Given the description of an element on the screen output the (x, y) to click on. 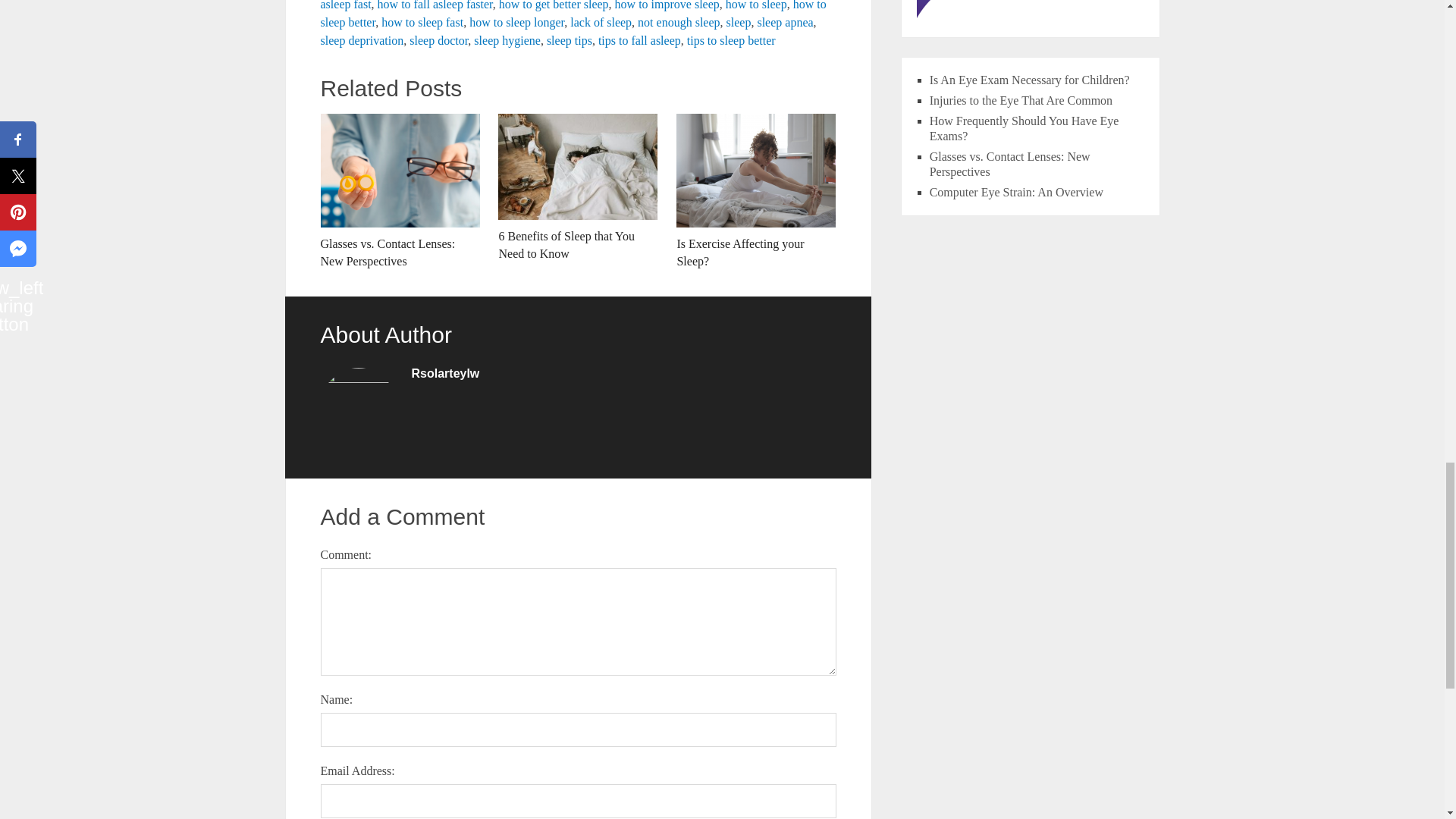
6 Benefits of Sleep that You Need to Know (577, 187)
lack of sleep (600, 21)
tips to fall asleep (639, 40)
6 Benefits of Sleep that You Need to Know (577, 187)
how to fall asleep fast (564, 5)
tips to sleep better (731, 40)
how to fall asleep faster (435, 5)
sleep tips (569, 40)
how to sleep longer (516, 21)
sleep (738, 21)
Glasses vs. Contact Lenses: New Perspectives (399, 191)
Is Exercise Affecting your Sleep? (756, 191)
how to sleep better (572, 14)
how to improve sleep (666, 5)
how to get better sleep (553, 5)
